Given the description of an element on the screen output the (x, y) to click on. 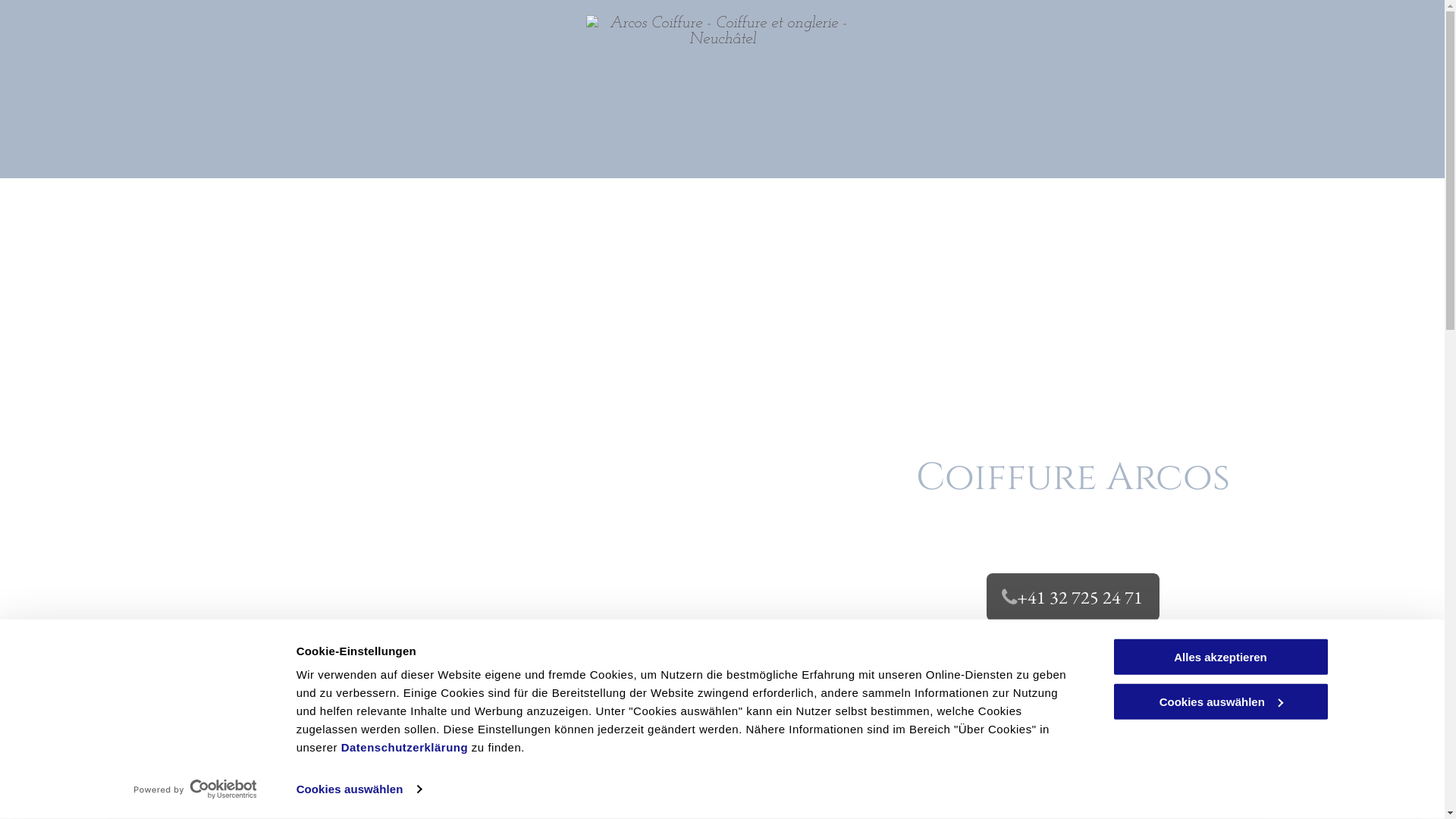
+41 32 725 24 71 Element type: text (1073, 596)
Alles akzeptieren Element type: text (1219, 656)
